Given the description of an element on the screen output the (x, y) to click on. 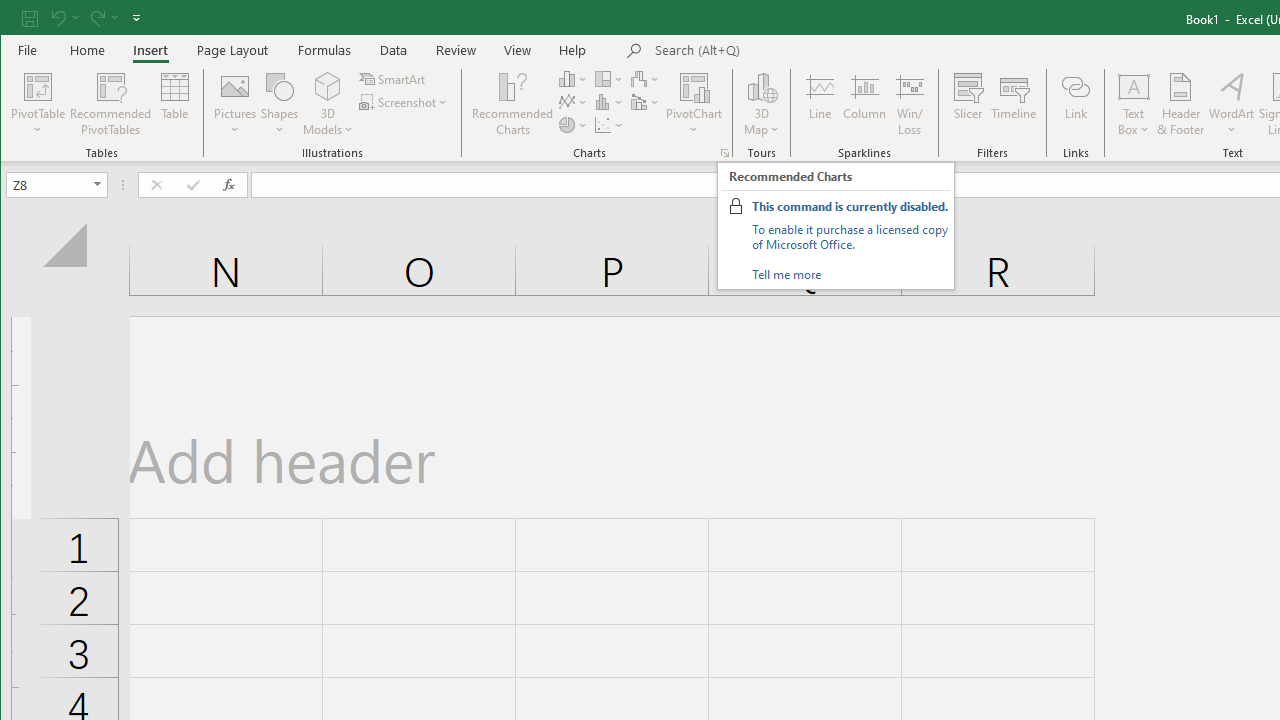
Insert Scatter (X, Y) or Bubble Chart (609, 124)
Slicer... (968, 104)
Pictures (235, 104)
Insert Line or Area Chart (573, 101)
3D Map (762, 104)
Link (1075, 104)
